Given the description of an element on the screen output the (x, y) to click on. 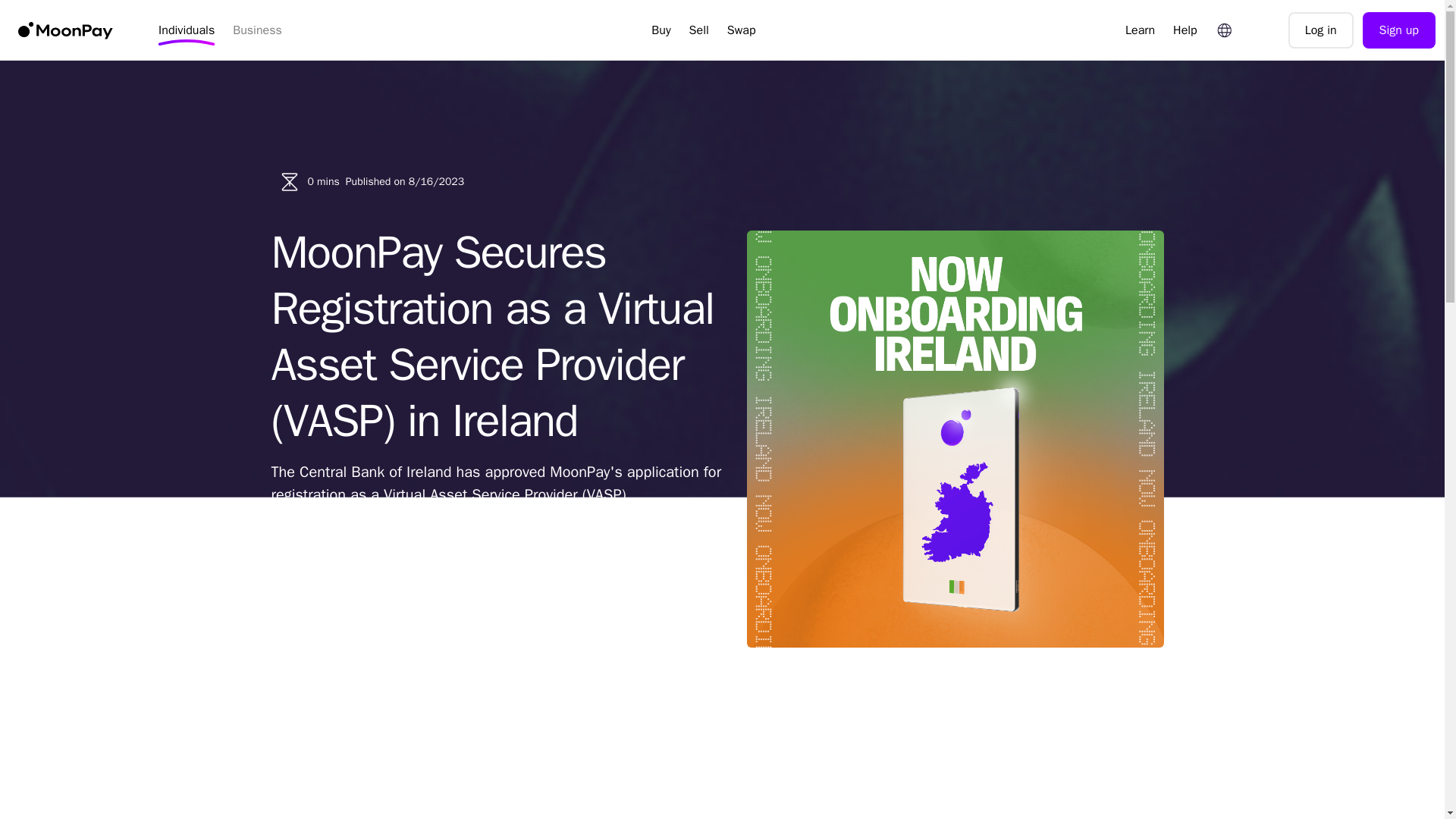
Help (1185, 30)
Individuals (186, 30)
Log in (1321, 30)
Buy (660, 30)
Swap (741, 30)
Sign up (1398, 30)
Sell (698, 30)
Business (257, 30)
Learn (1139, 30)
